Given the description of an element on the screen output the (x, y) to click on. 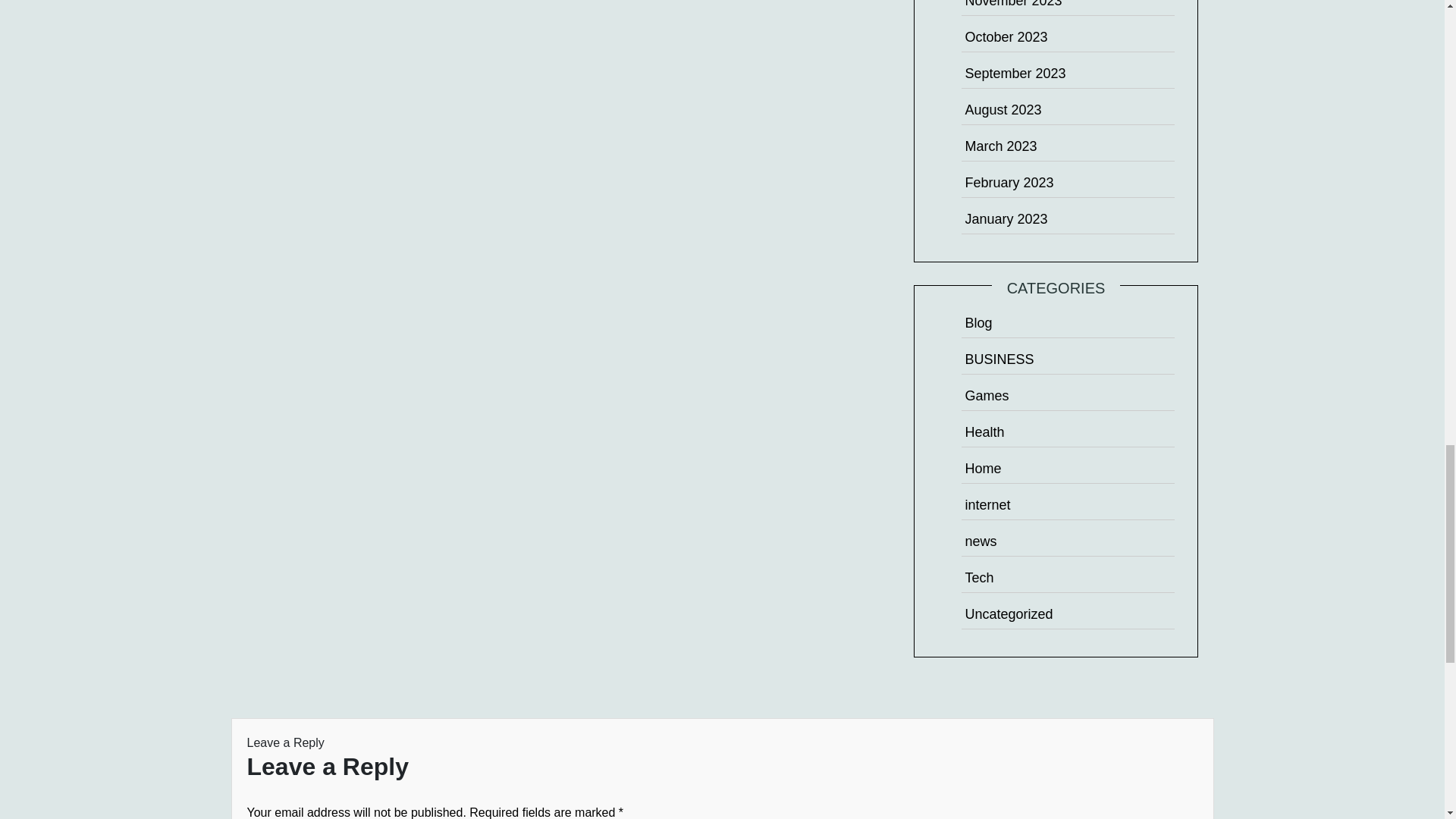
October 2023 (1004, 37)
March 2023 (999, 145)
BUSINESS (998, 359)
February 2023 (1007, 182)
September 2023 (1014, 73)
January 2023 (1004, 218)
Blog (977, 322)
November 2023 (1012, 4)
August 2023 (1002, 109)
